Given the description of an element on the screen output the (x, y) to click on. 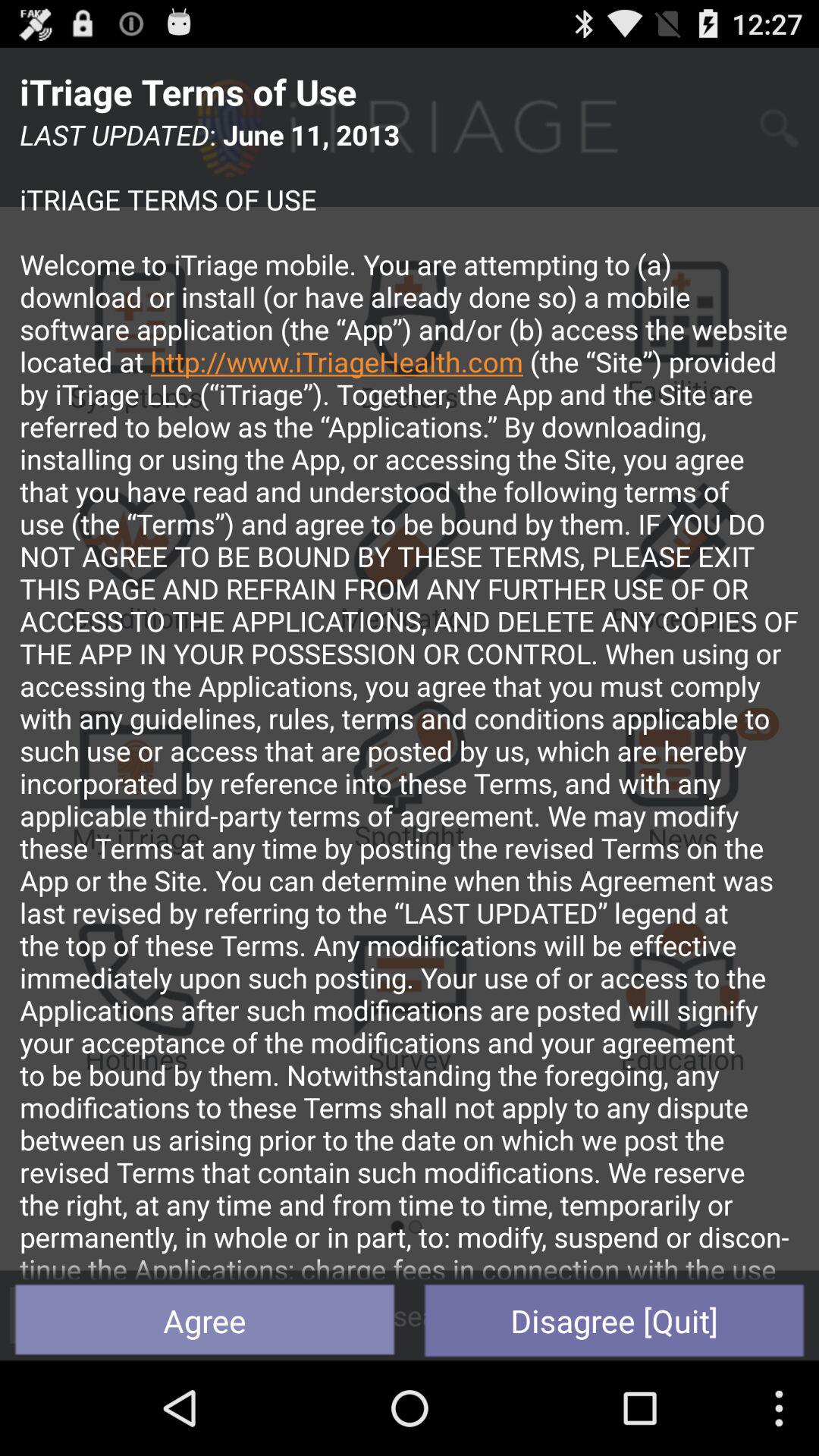
select item to the right of agree item (613, 1320)
